Given the description of an element on the screen output the (x, y) to click on. 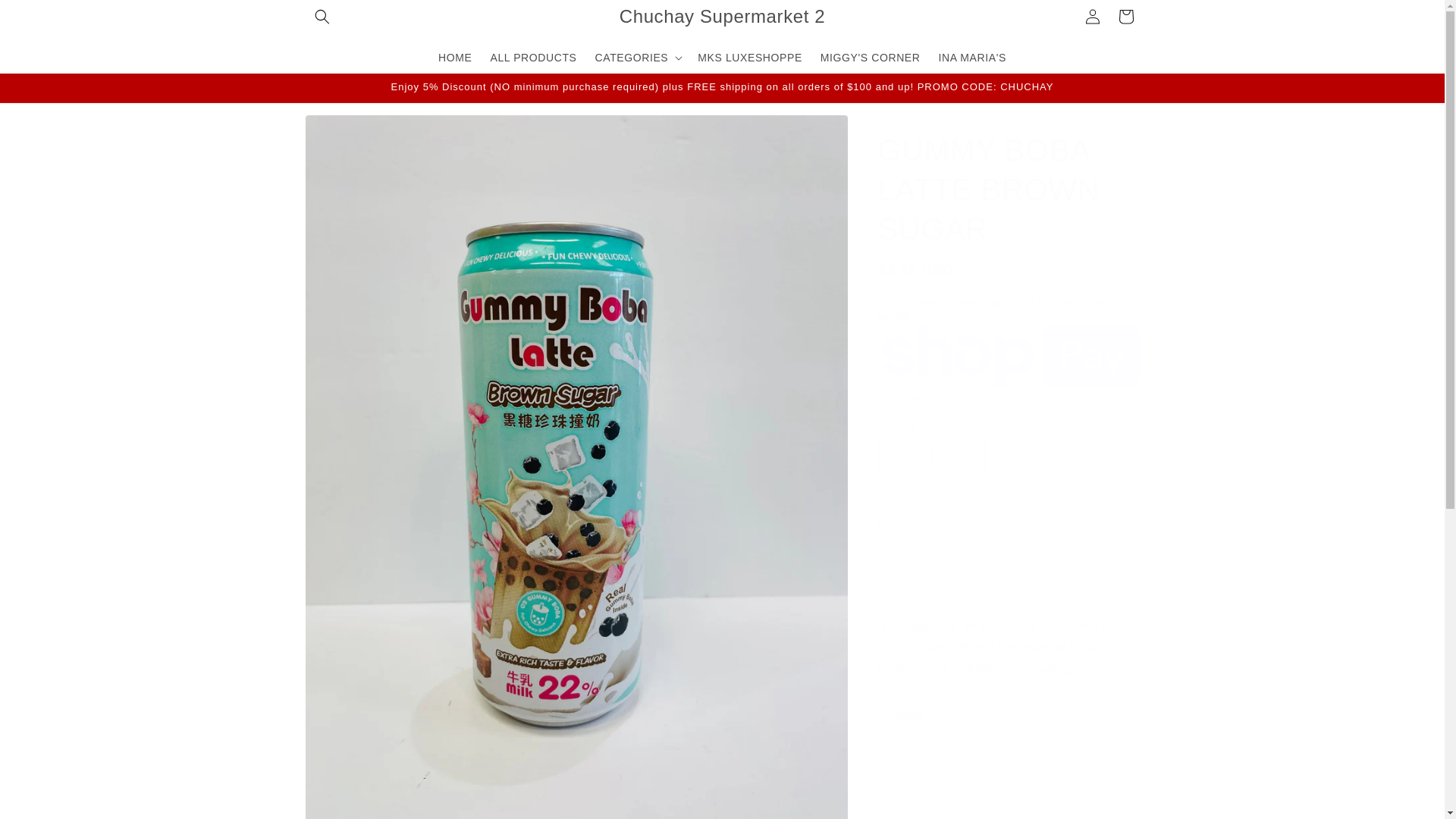
Chuchay Supermarket 2 (720, 16)
ALL PRODUCTS (532, 56)
Skip to content (45, 17)
MKS LUXESHOPPE (749, 56)
MIGGY'S CORNER (870, 56)
INA MARIA'S (972, 56)
HOME (454, 56)
1 (931, 456)
